Given the description of an element on the screen output the (x, y) to click on. 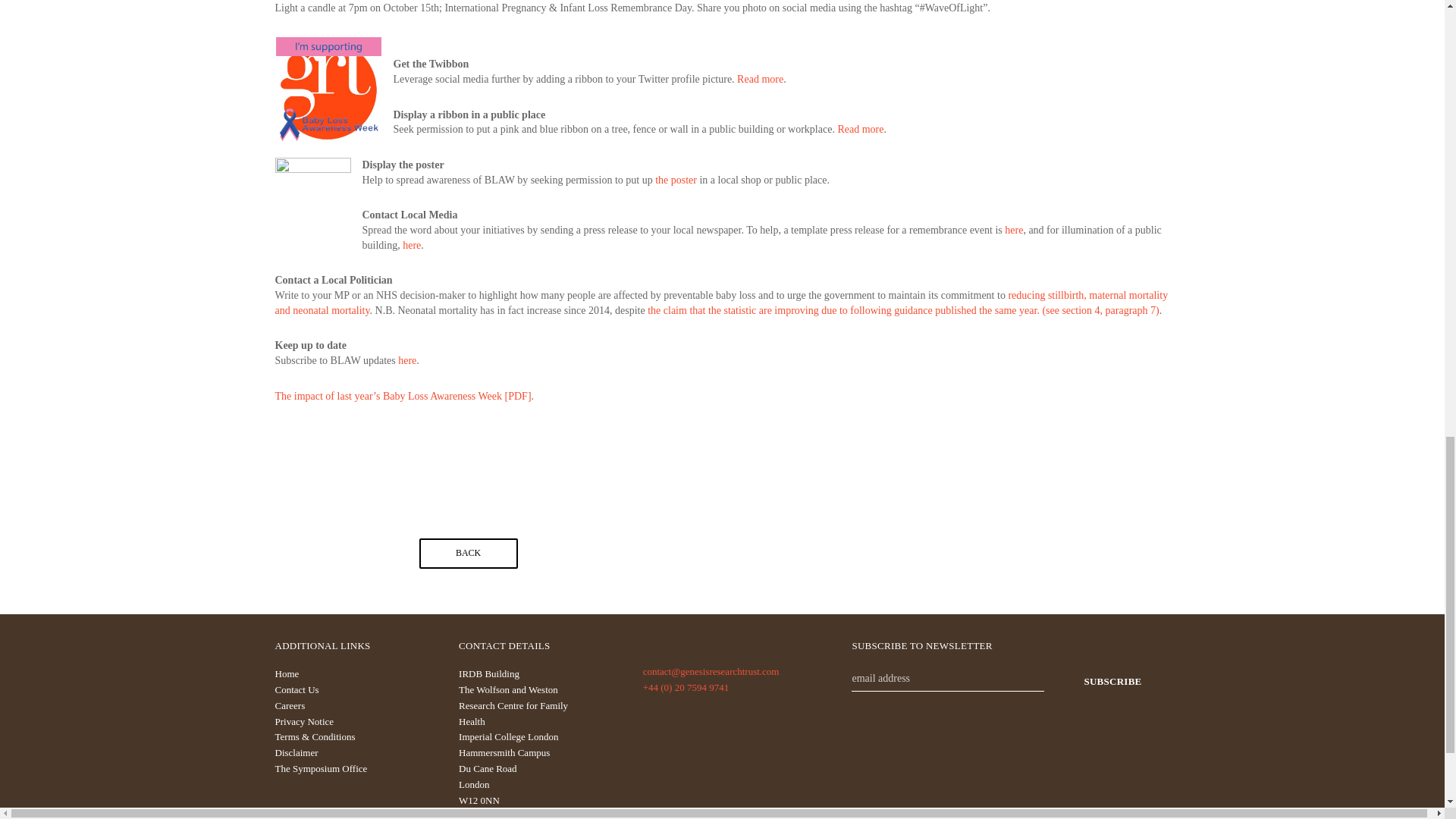
Subscribe (1112, 681)
Read more (860, 129)
here (1013, 229)
here (411, 244)
Read more (759, 79)
the poster (676, 179)
